Given the description of an element on the screen output the (x, y) to click on. 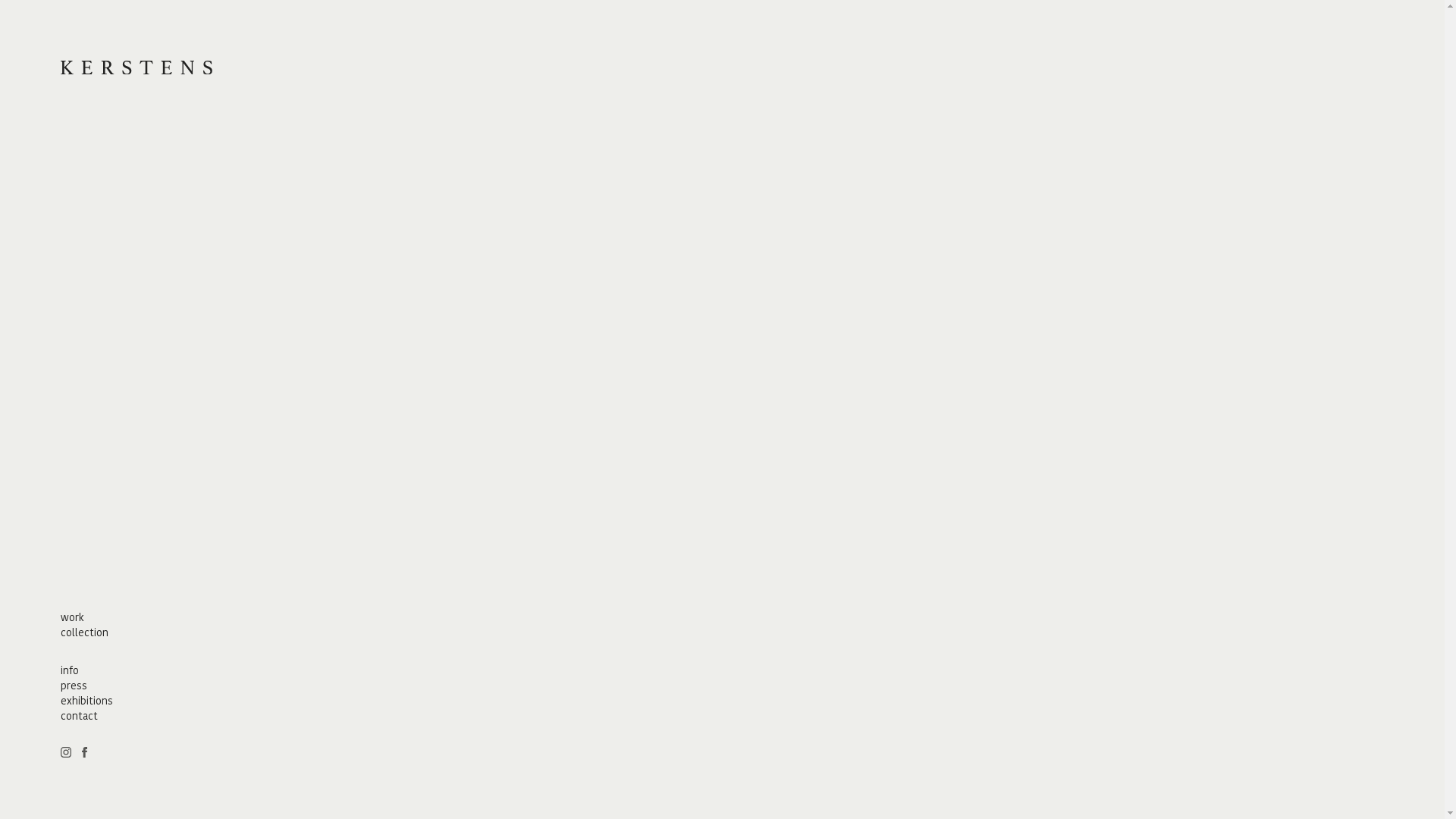
Kerstens Element type: text (136, 69)
info Element type: text (69, 669)
exhibitions Element type: text (86, 700)
contact Element type: text (78, 715)
work Element type: text (72, 616)
press Element type: text (73, 685)
collection Element type: text (84, 632)
